Given the description of an element on the screen output the (x, y) to click on. 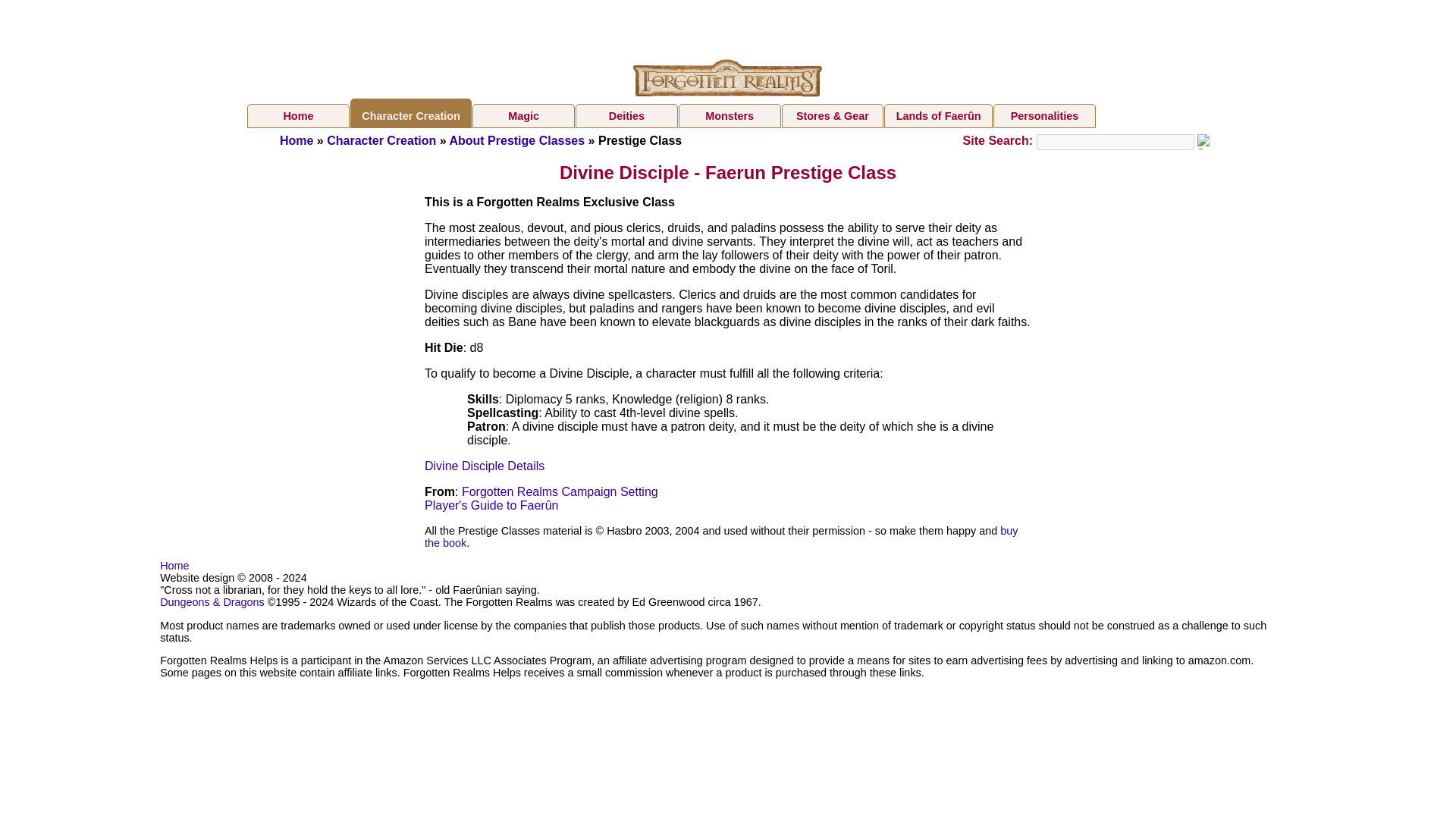
Deities (626, 115)
About Prestige Classes (516, 140)
Character Creation (410, 113)
Divine Disciple Details (484, 465)
Home (174, 565)
Monsters (729, 115)
buy the book (721, 536)
Forgotten Realms Campaign Setting (559, 491)
Character Creation (380, 140)
Personalities (1044, 115)
